Given the description of an element on the screen output the (x, y) to click on. 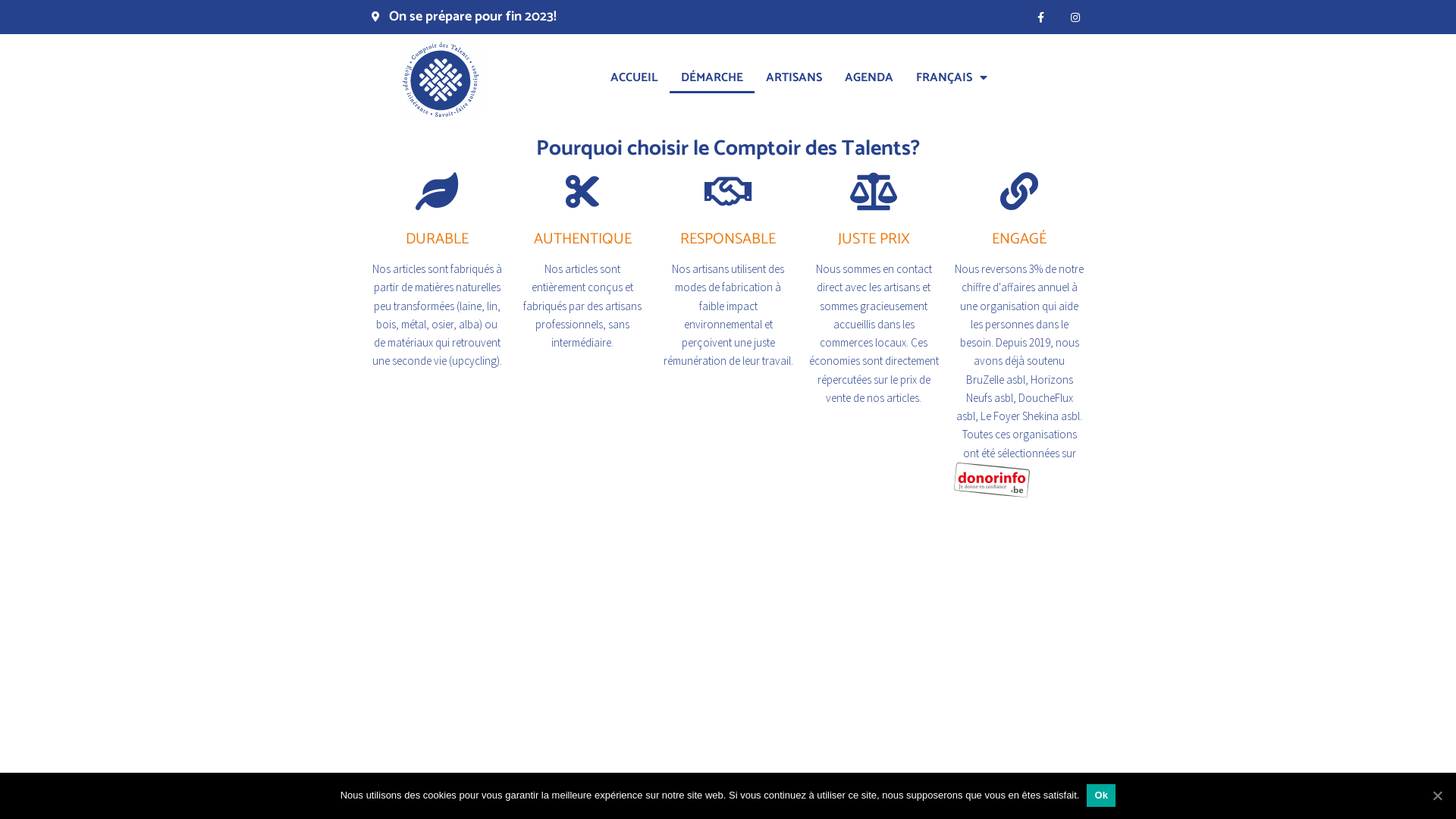
Ok Element type: text (1100, 795)
AGENDA Element type: text (868, 77)
comptoir-des-talents-400px-bg Element type: hover (439, 79)
ACCUEIL Element type: text (634, 77)
ARTISANS Element type: text (793, 77)
